Given the description of an element on the screen output the (x, y) to click on. 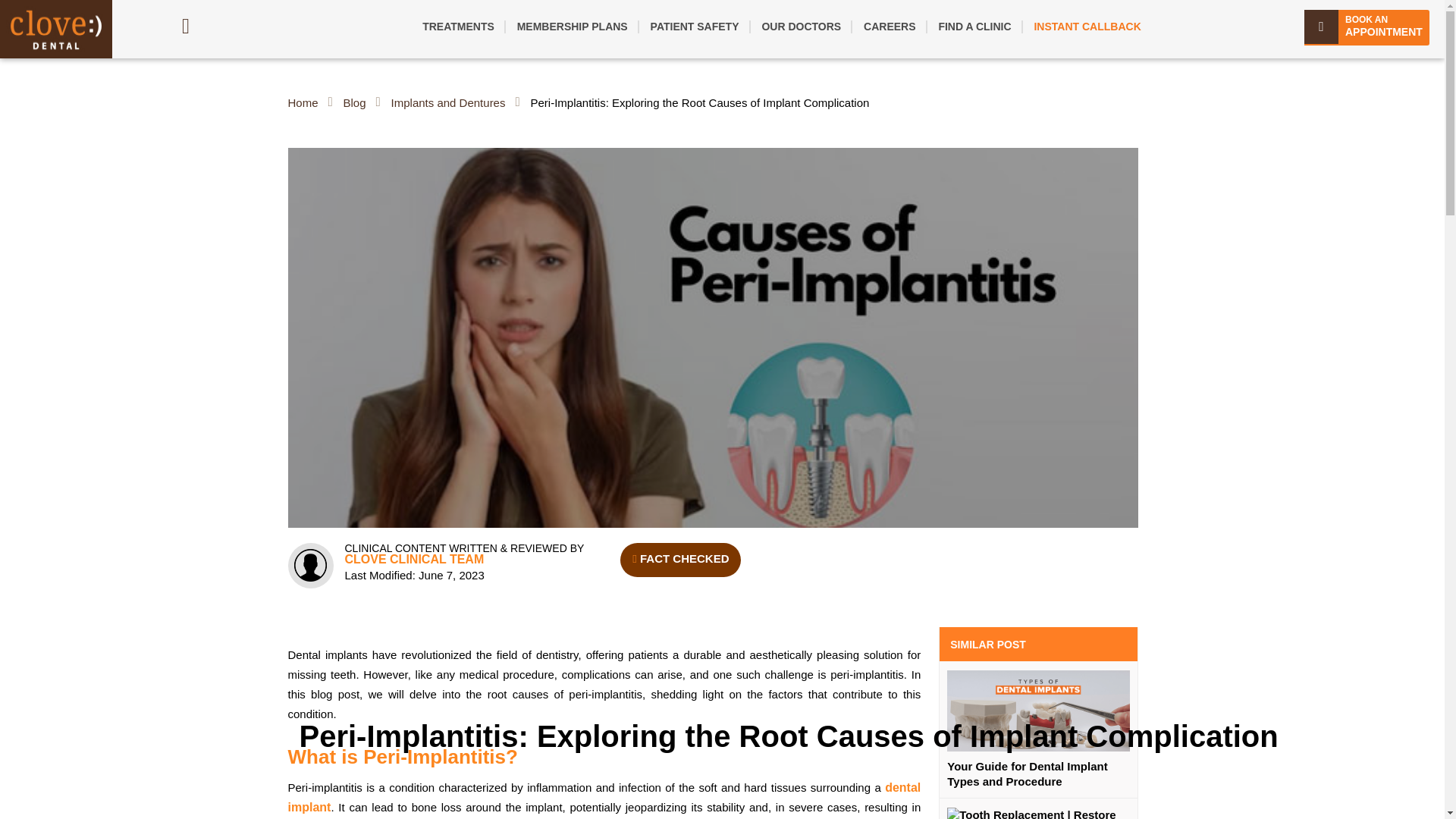
Book an appointment (1366, 27)
PATIENT SAFETY (694, 26)
TREATMENTS (458, 26)
MEMBERSHIP PLANS (572, 26)
